Given the description of an element on the screen output the (x, y) to click on. 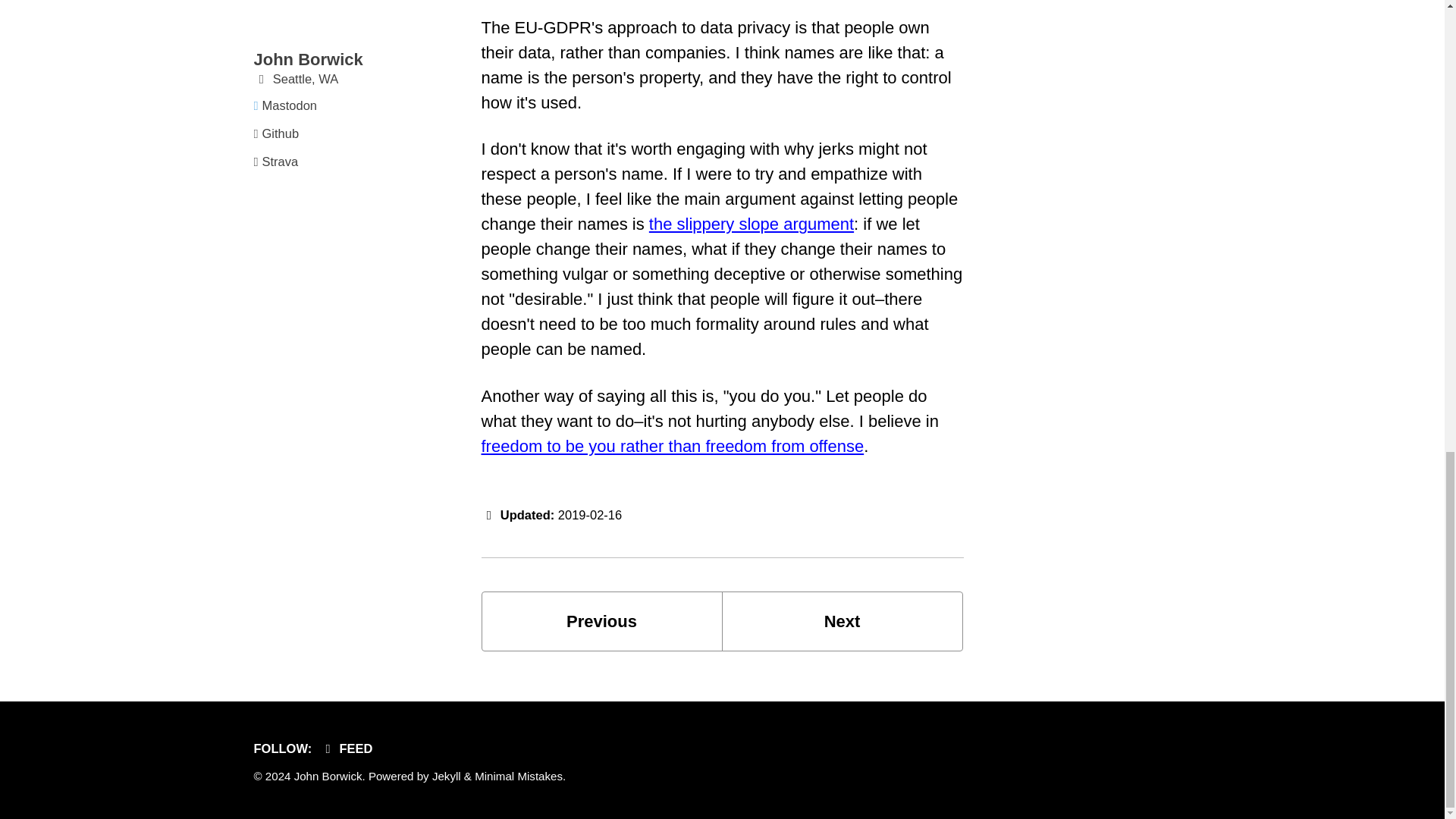
the slippery slope argument (751, 223)
FEED (350, 748)
Jekyll (446, 775)
Minimal Mistakes (518, 775)
Previous (601, 621)
Next (842, 621)
freedom to be you rather than freedom from offense (842, 621)
